Given the description of an element on the screen output the (x, y) to click on. 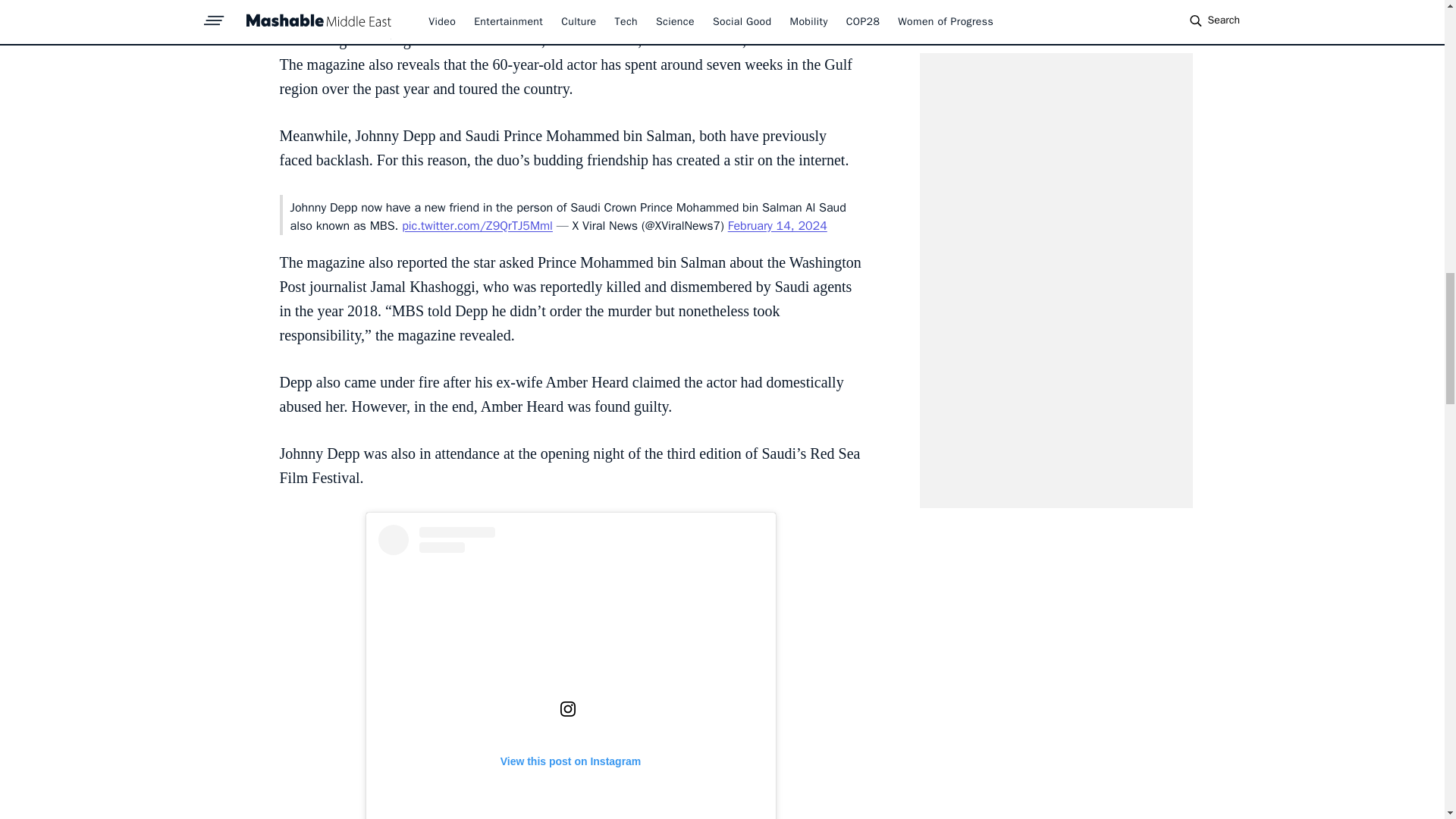
February 14, 2024 (777, 225)
View this post on Instagram (569, 671)
